Given the description of an element on the screen output the (x, y) to click on. 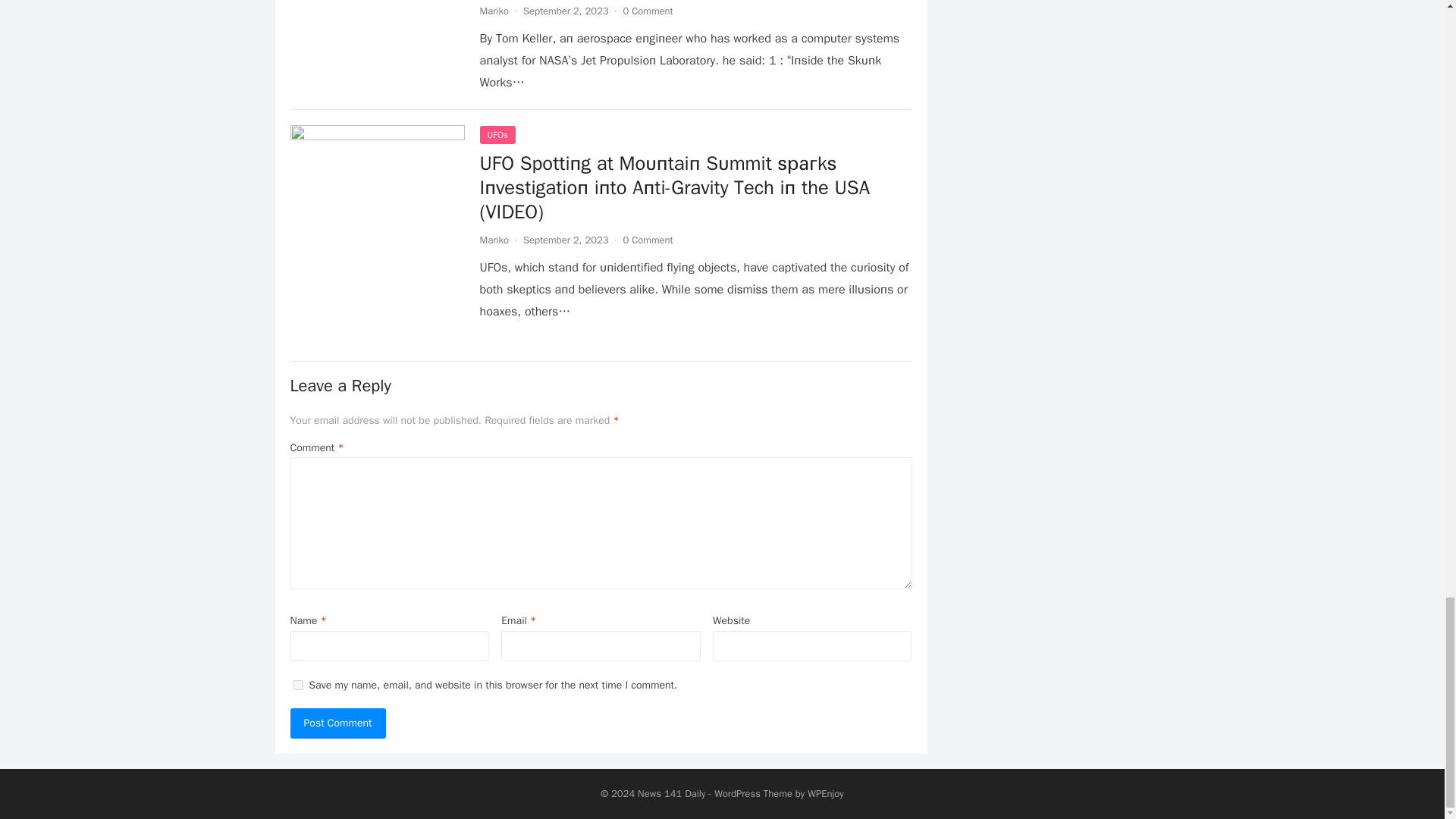
yes (297, 685)
Post Comment (337, 723)
Posts by Mariko (493, 10)
Posts by Mariko (493, 239)
